Given the description of an element on the screen output the (x, y) to click on. 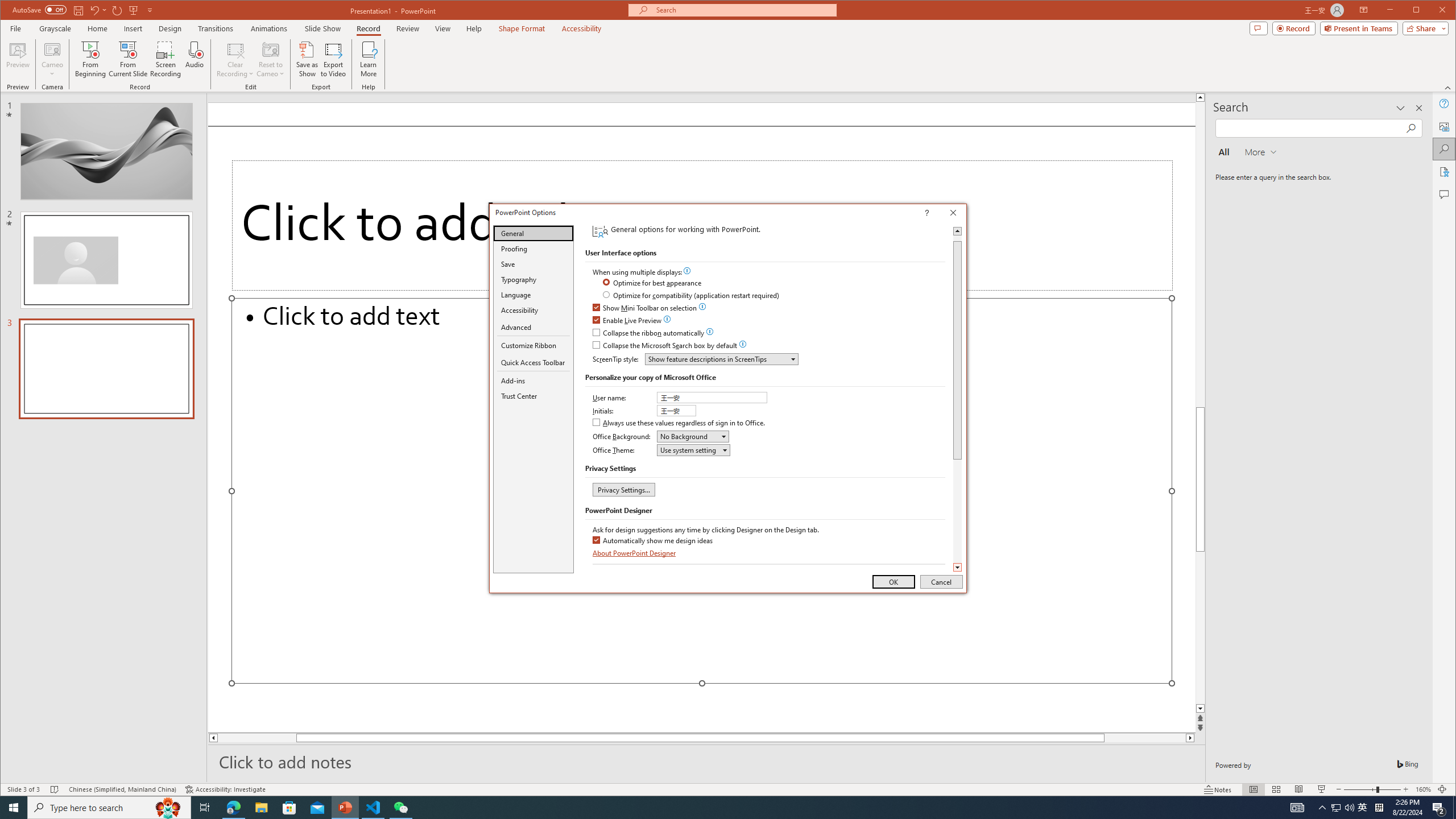
Optimize for compatibility (application restart required) (691, 295)
Collapse the ribbon automatically (649, 333)
Advanced (533, 327)
Optimize for best appearance (652, 283)
Always use these values regardless of sign in to Office. (679, 423)
From Beginning... (90, 59)
